Given the description of an element on the screen output the (x, y) to click on. 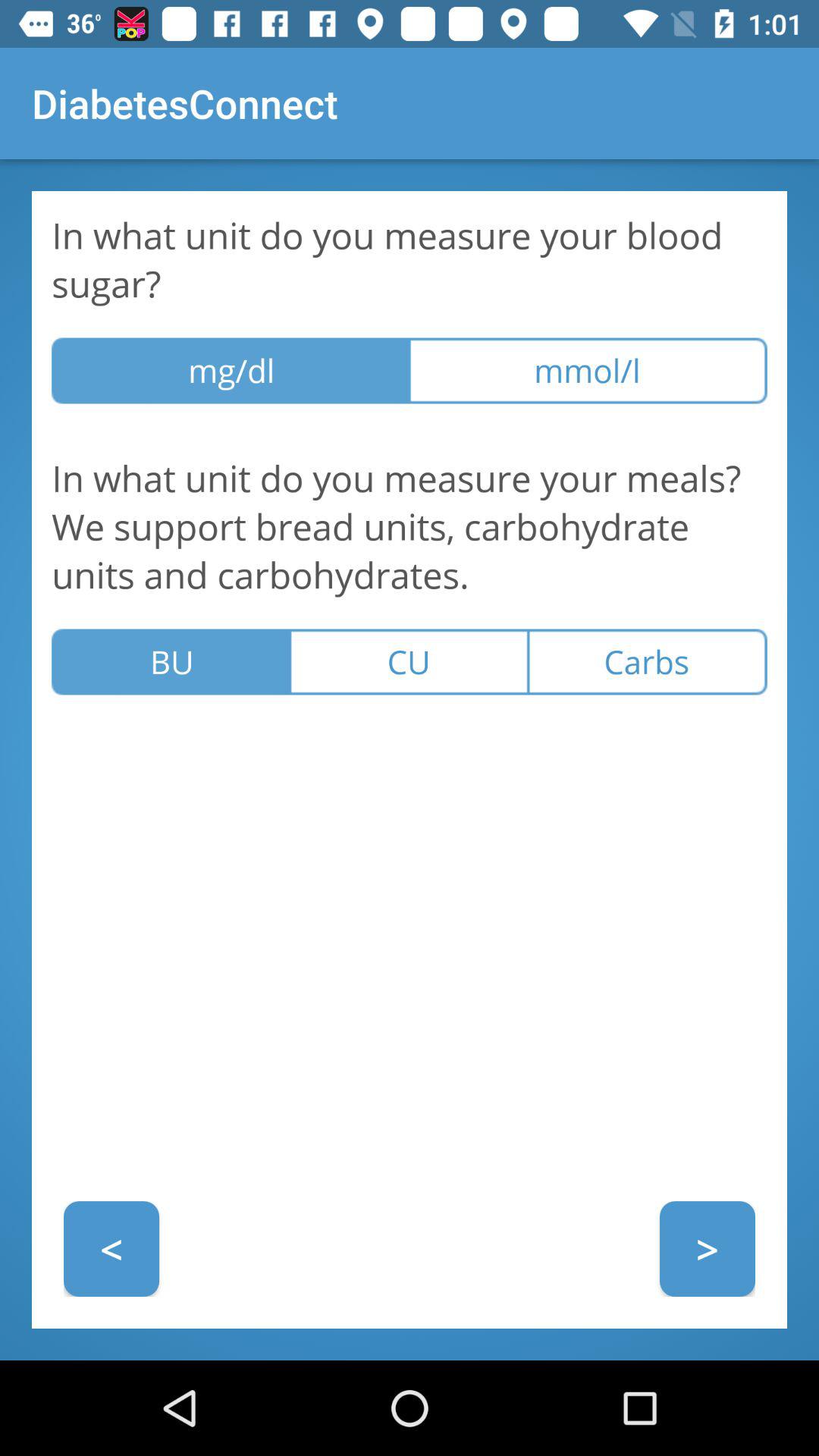
press icon above the < item (170, 662)
